Given the description of an element on the screen output the (x, y) to click on. 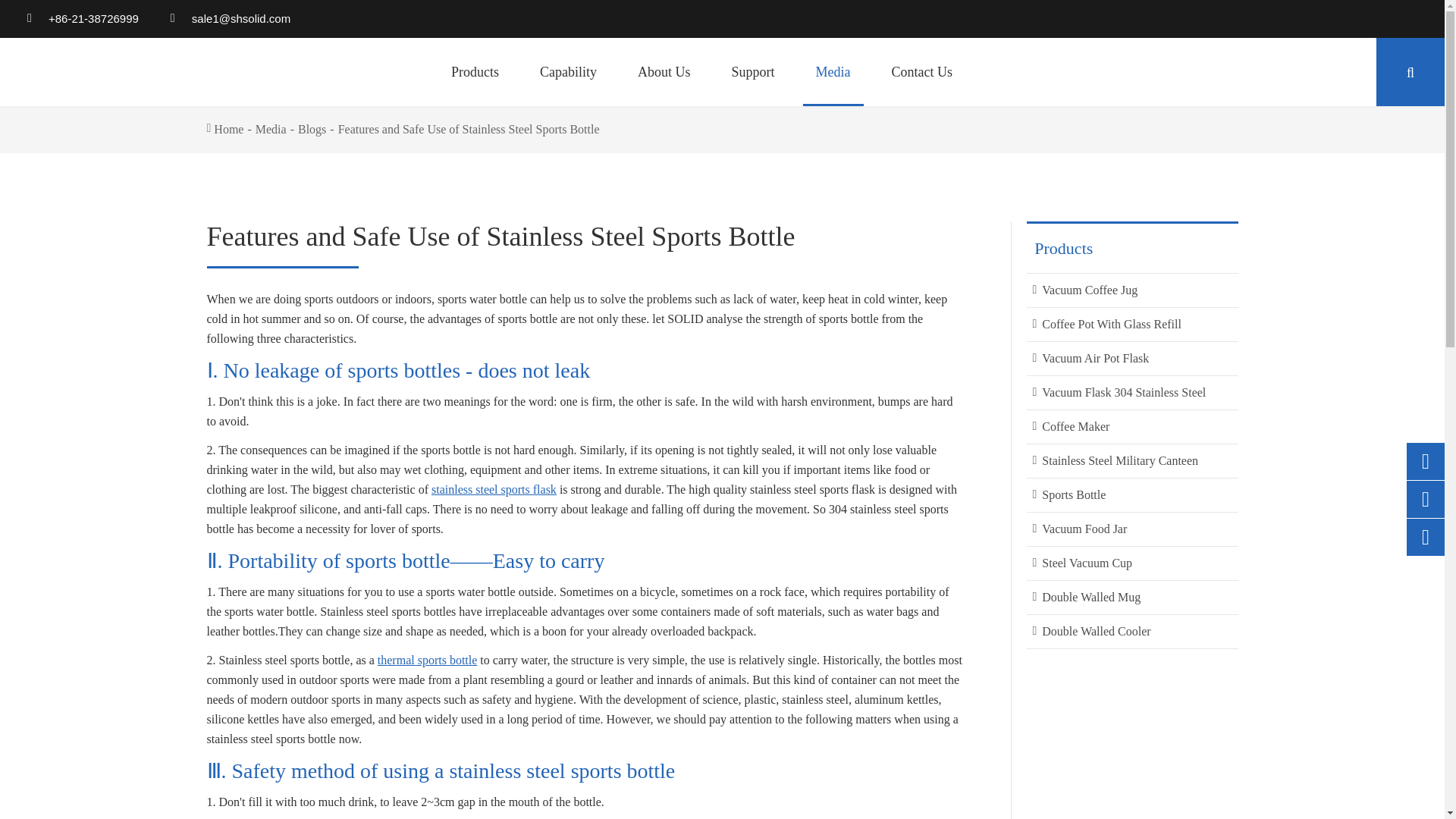
Media (271, 128)
Features and Safe Use of Stainless Steel Sports Bottle (468, 128)
Contact Us (922, 71)
Blogs (312, 128)
submit (1162, 116)
